Given the description of an element on the screen output the (x, y) to click on. 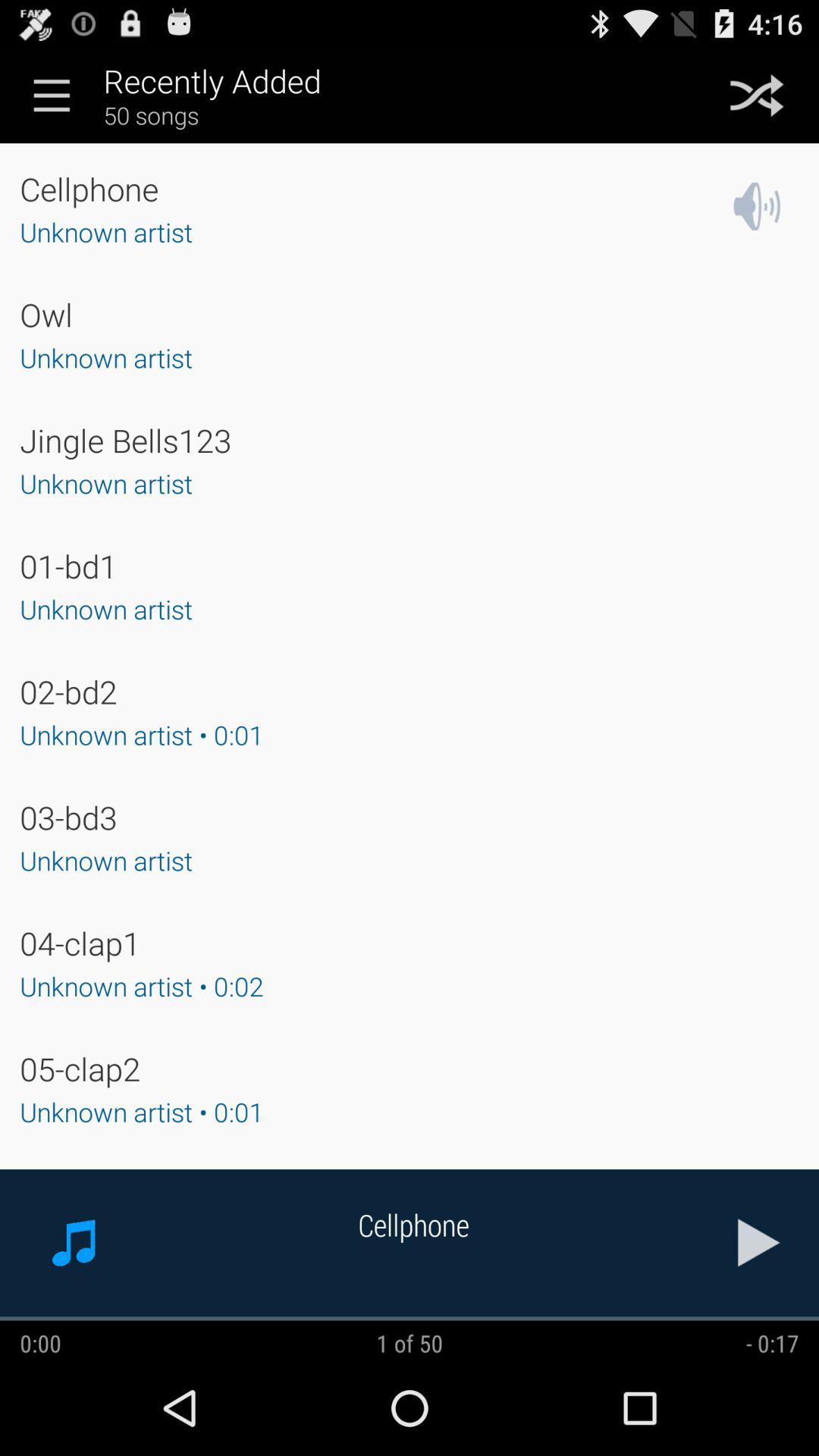
press the icon to the right of the cellphone icon (759, 1242)
